Given the description of an element on the screen output the (x, y) to click on. 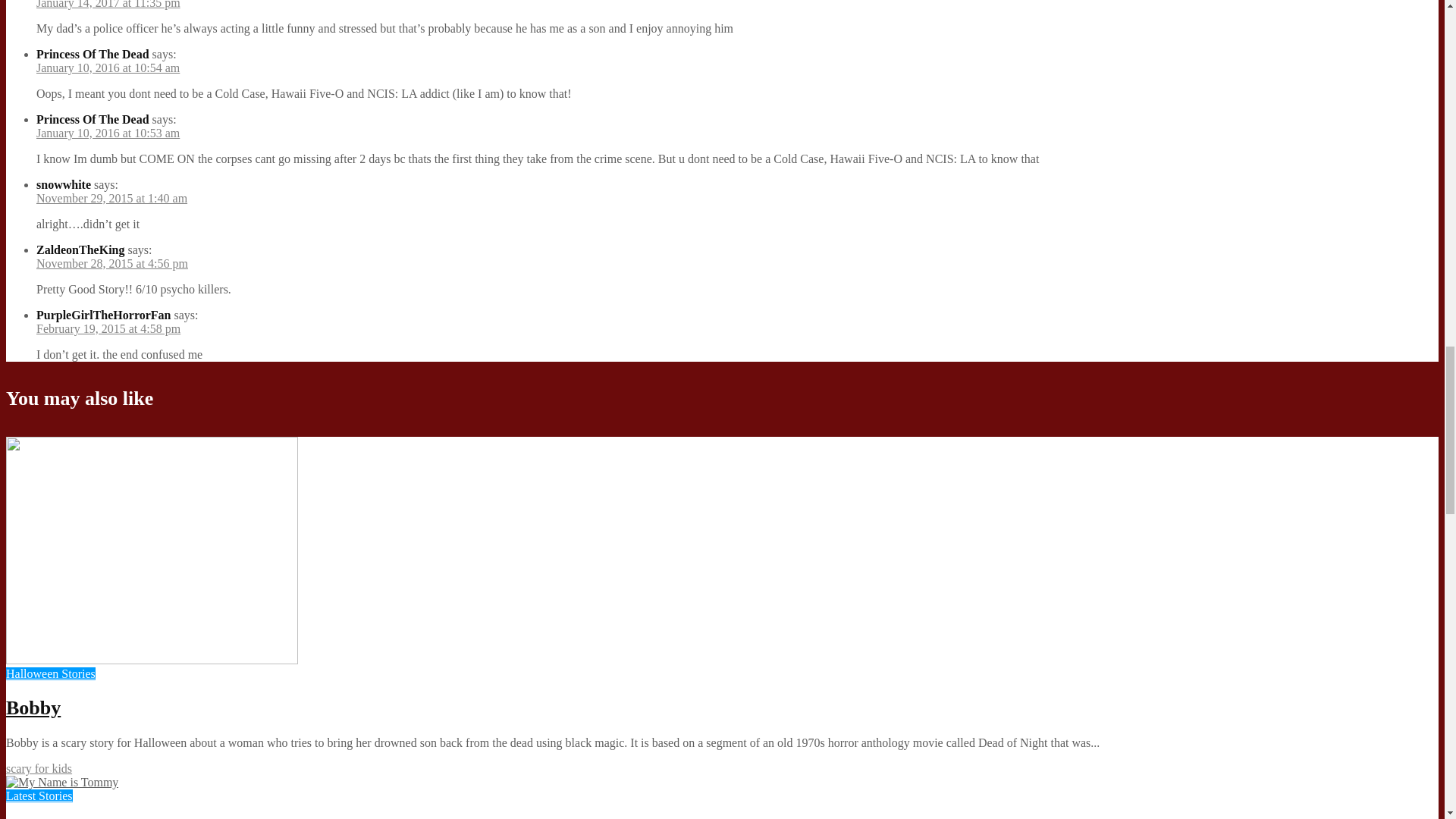
January 10, 2016 at 10:53 am (107, 132)
Bobby (151, 659)
February 19, 2015 at 4:58 pm (108, 328)
My Name is Tommy (61, 781)
January 14, 2017 at 11:35 pm (108, 4)
January 10, 2016 at 10:54 am (107, 67)
November 29, 2015 at 1:40 am (111, 197)
November 28, 2015 at 4:56 pm (111, 263)
